Given the description of an element on the screen output the (x, y) to click on. 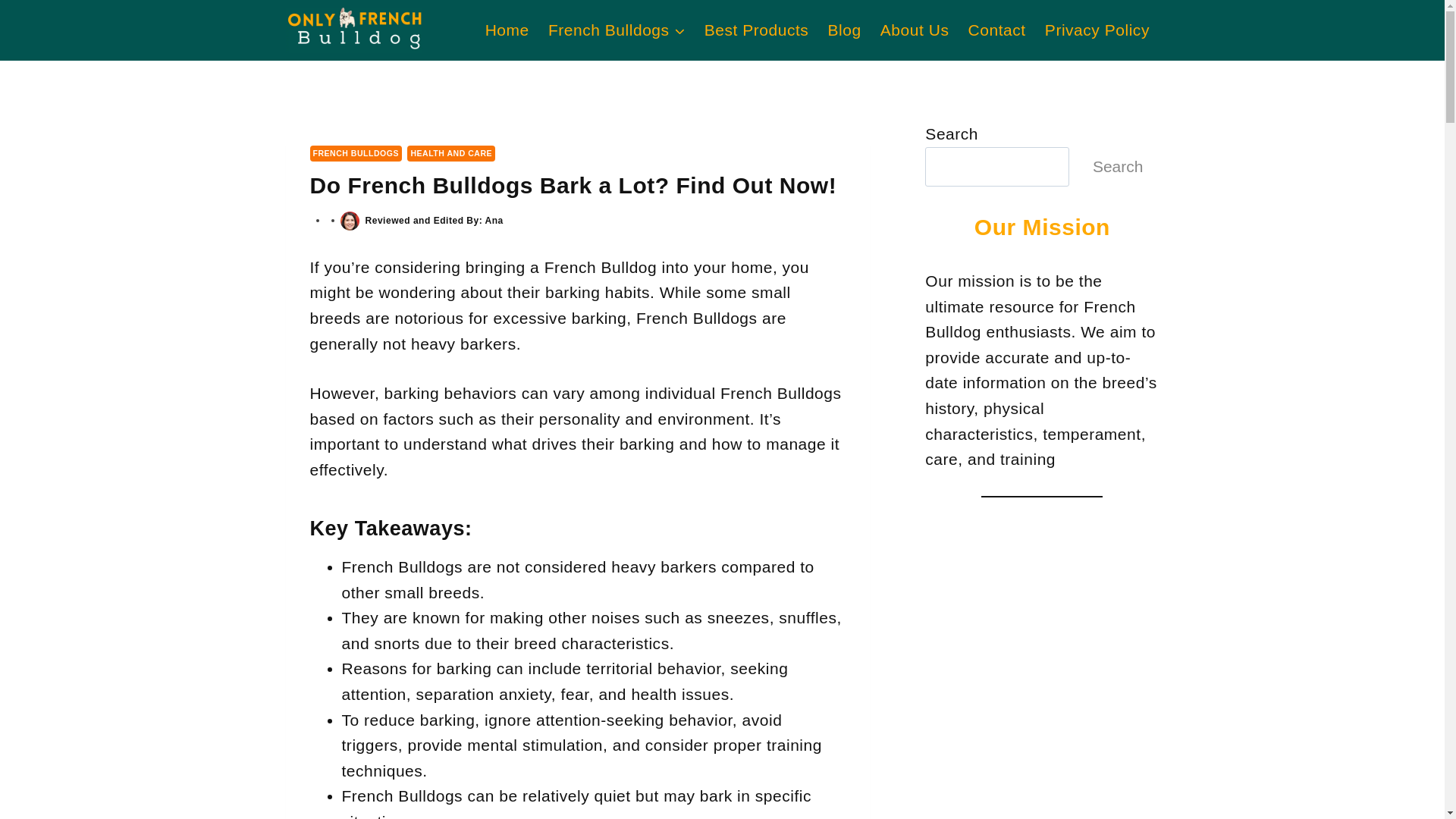
FRENCH BULLDOGS (354, 153)
Blog (844, 30)
HEALTH AND CARE (451, 153)
About Us (914, 30)
Contact (996, 30)
Home (507, 30)
Privacy Policy (1096, 30)
Ana (493, 220)
Best Products (756, 30)
French Bulldogs (616, 30)
